Given the description of an element on the screen output the (x, y) to click on. 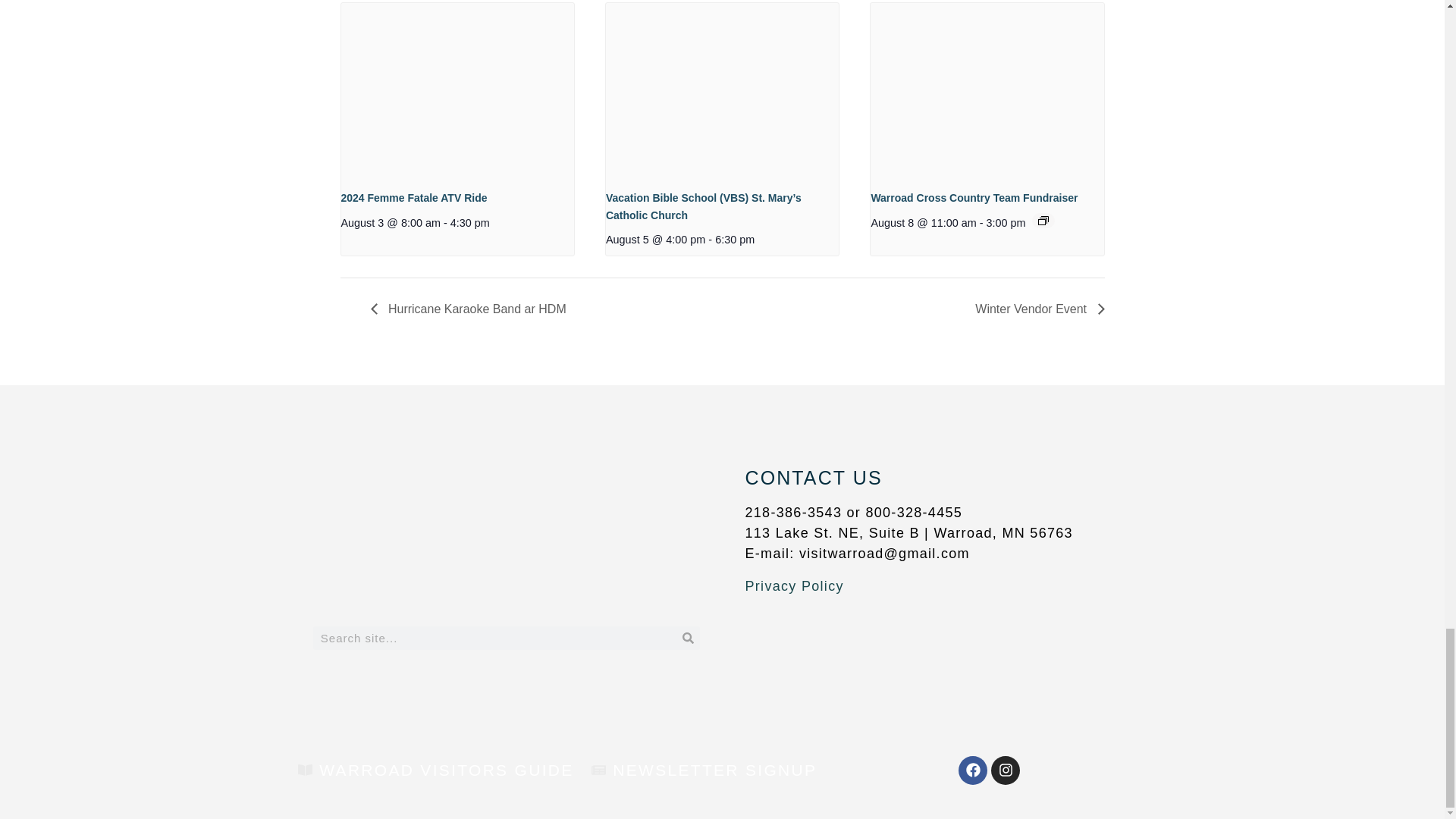
Event Series (1043, 220)
